Given the description of an element on the screen output the (x, y) to click on. 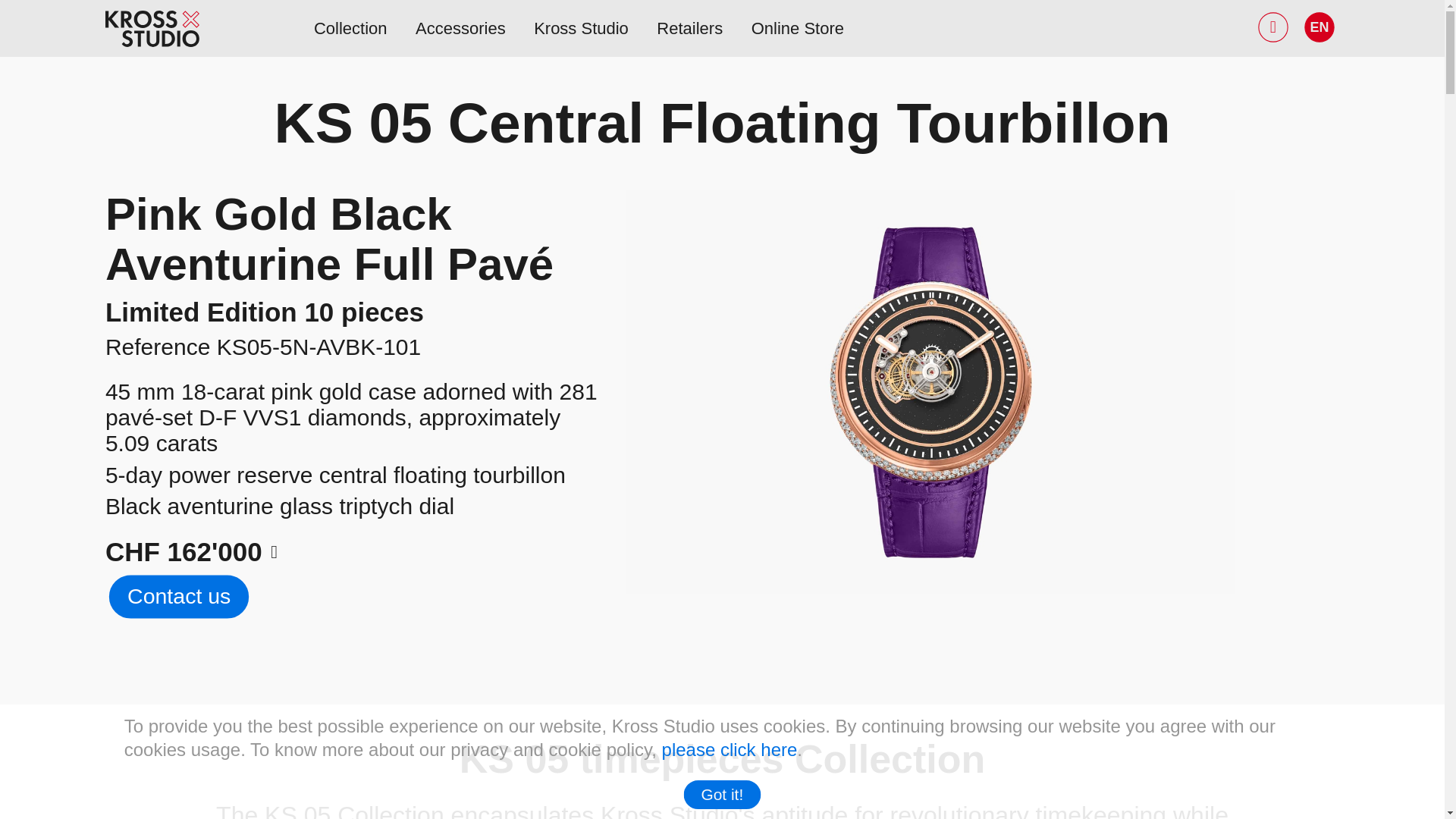
Contact us (182, 596)
Kross Studio (581, 27)
Online Store (797, 27)
Collection (350, 27)
Accessories (459, 27)
please click here (729, 749)
Got it! (724, 795)
Retailers (689, 27)
